Given the description of an element on the screen output the (x, y) to click on. 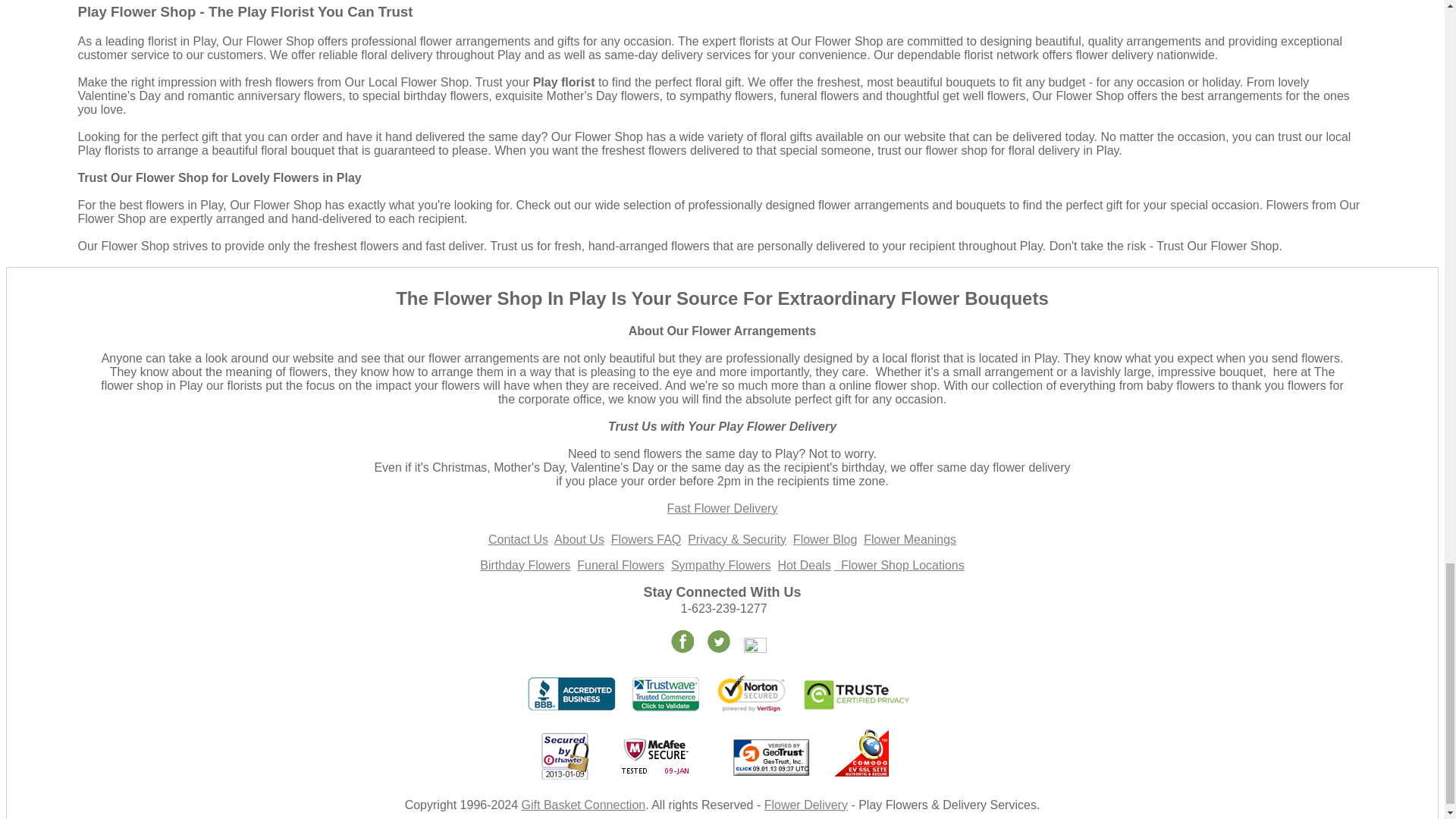
Fast Flower Delivery (721, 508)
About Us (579, 539)
Flower Delivery (805, 804)
Flower Meanings (909, 539)
Flower Shop Locations (902, 564)
Birthday Flowers (525, 564)
Sympathy Flowers (721, 564)
Flower Blog (825, 539)
Hot Deals (803, 564)
Gift Basket Connection (583, 804)
Funeral Flowers (619, 564)
Contact Us (517, 539)
Flowers FAQ (646, 539)
